Given the description of an element on the screen output the (x, y) to click on. 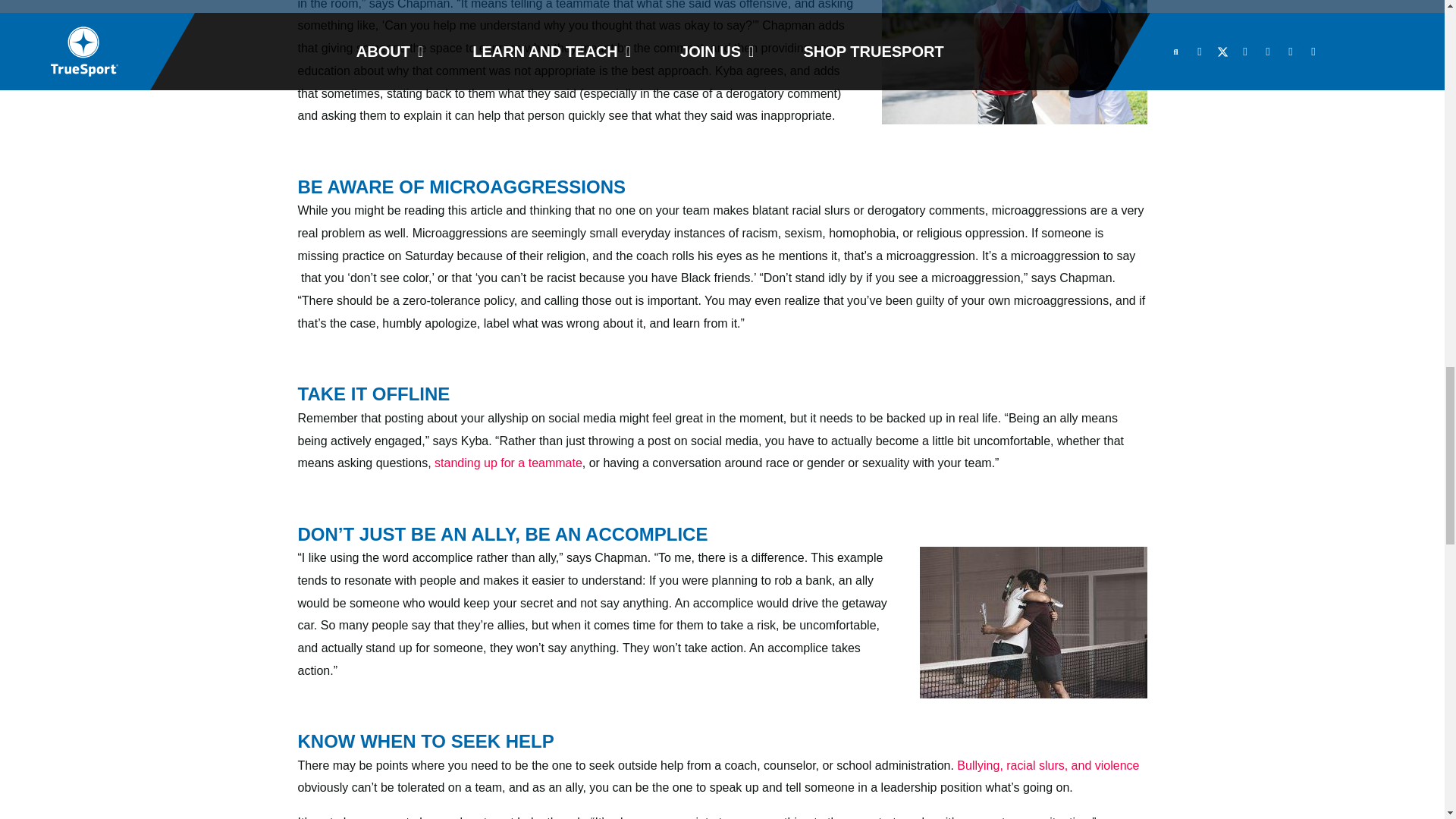
Two young male tennis players hugging. (1032, 622)
Two young male basketball players talking. (1013, 62)
